Given the description of an element on the screen output the (x, y) to click on. 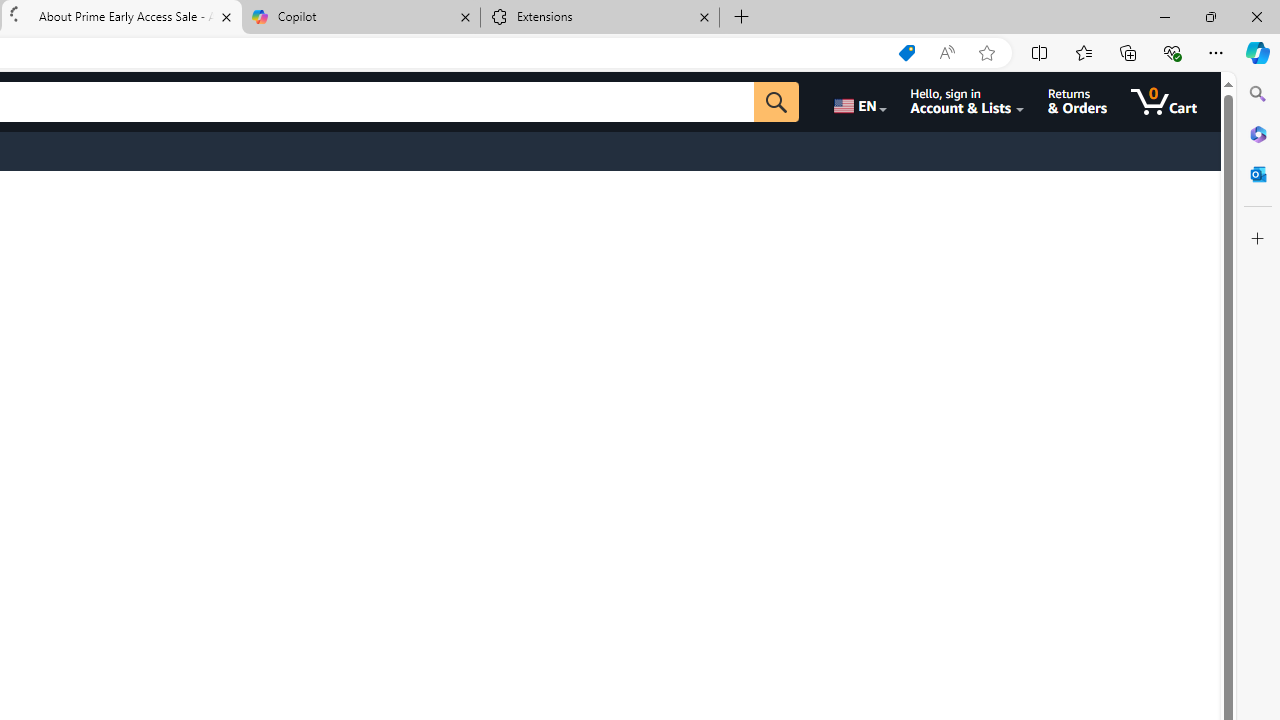
Returns & Orders (1092, 101)
0 items in cart (1178, 101)
Copilot (360, 17)
Hello, sign in Account & Lists (982, 101)
Choose a language for shopping. (874, 101)
